Given the description of an element on the screen output the (x, y) to click on. 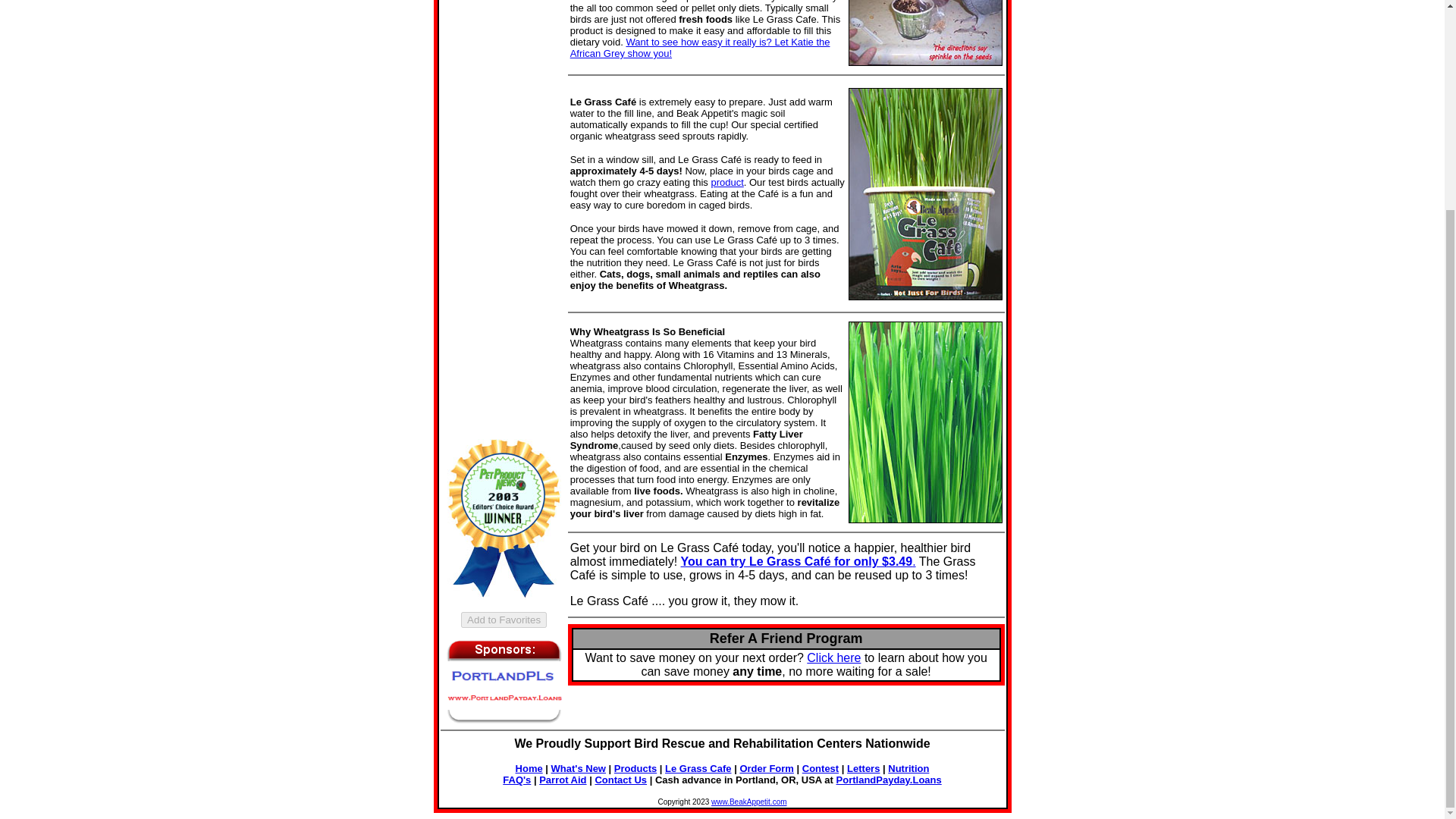
Contact Us (620, 779)
FAQ's (516, 779)
Contest (820, 767)
Products (635, 767)
Parrot Aid (562, 779)
PortlandPLs - Portland Payday Loans (504, 704)
Le Grass Cafe (697, 767)
Letters (863, 767)
Nutrition (908, 767)
Click here (833, 657)
Add to Favorites (504, 619)
www.BeakAppetit.com (749, 801)
Order Form (766, 767)
Home (529, 767)
